Given the description of an element on the screen output the (x, y) to click on. 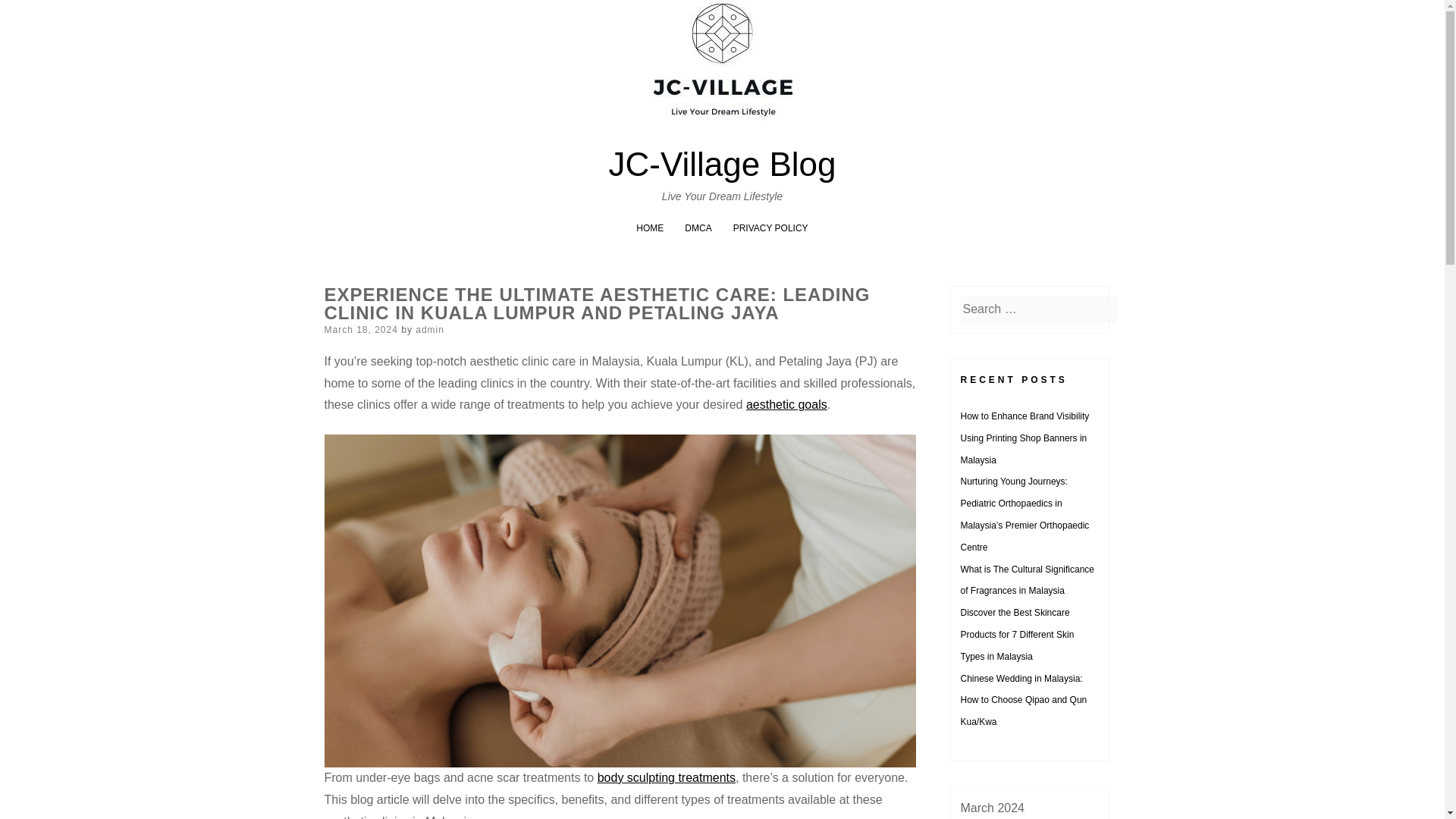
PRIVACY POLICY (770, 227)
DMCA (697, 227)
JC-Village Blog (721, 163)
Search (29, 13)
HOME (649, 227)
March 18, 2024 (360, 329)
What is The Cultural Significance of Fragrances in Malaysia (1026, 580)
aesthetic goals (786, 404)
body sculpting treatments (665, 777)
admin (429, 329)
